Given the description of an element on the screen output the (x, y) to click on. 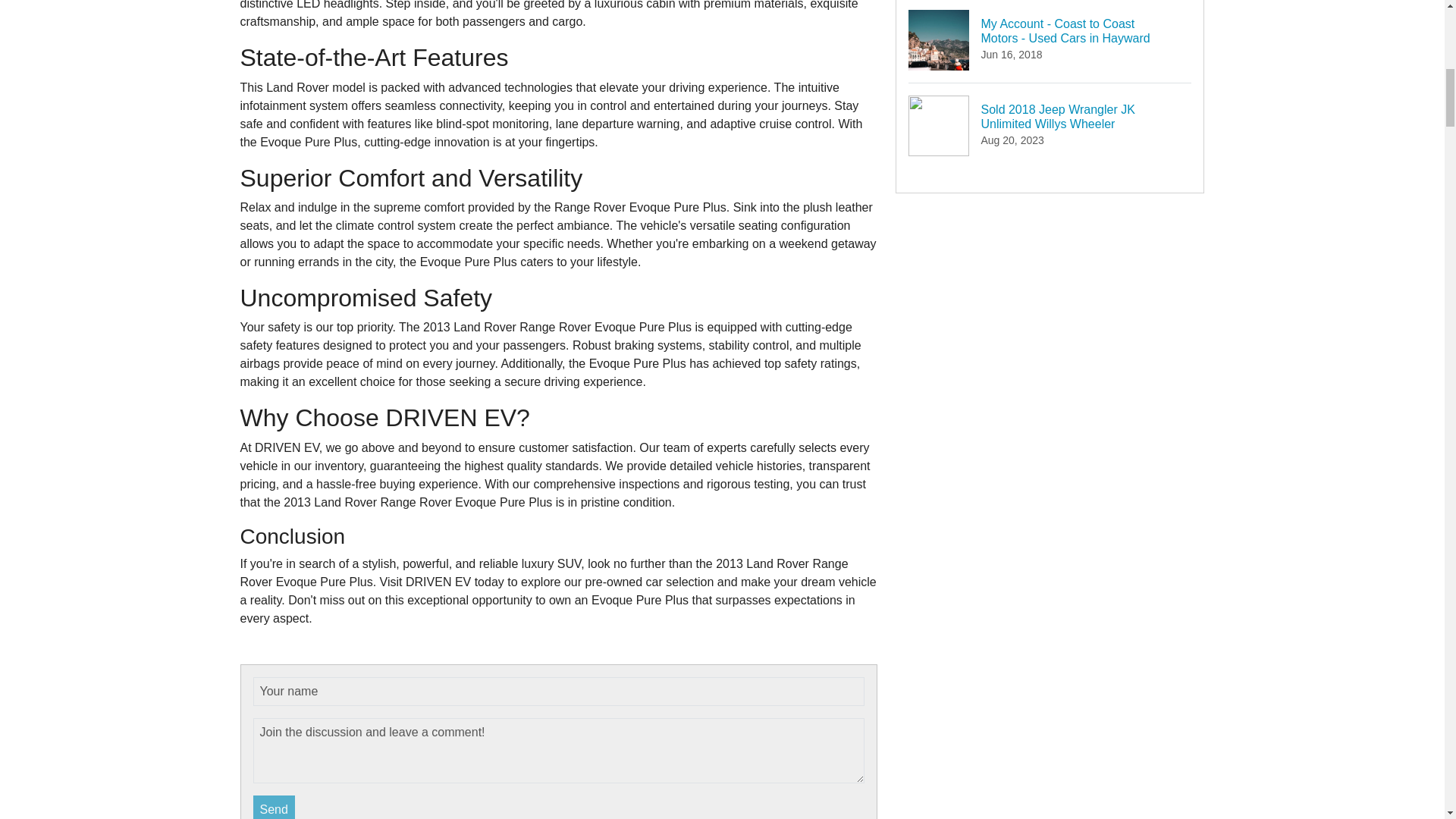
Send (274, 807)
Send (274, 807)
